Given the description of an element on the screen output the (x, y) to click on. 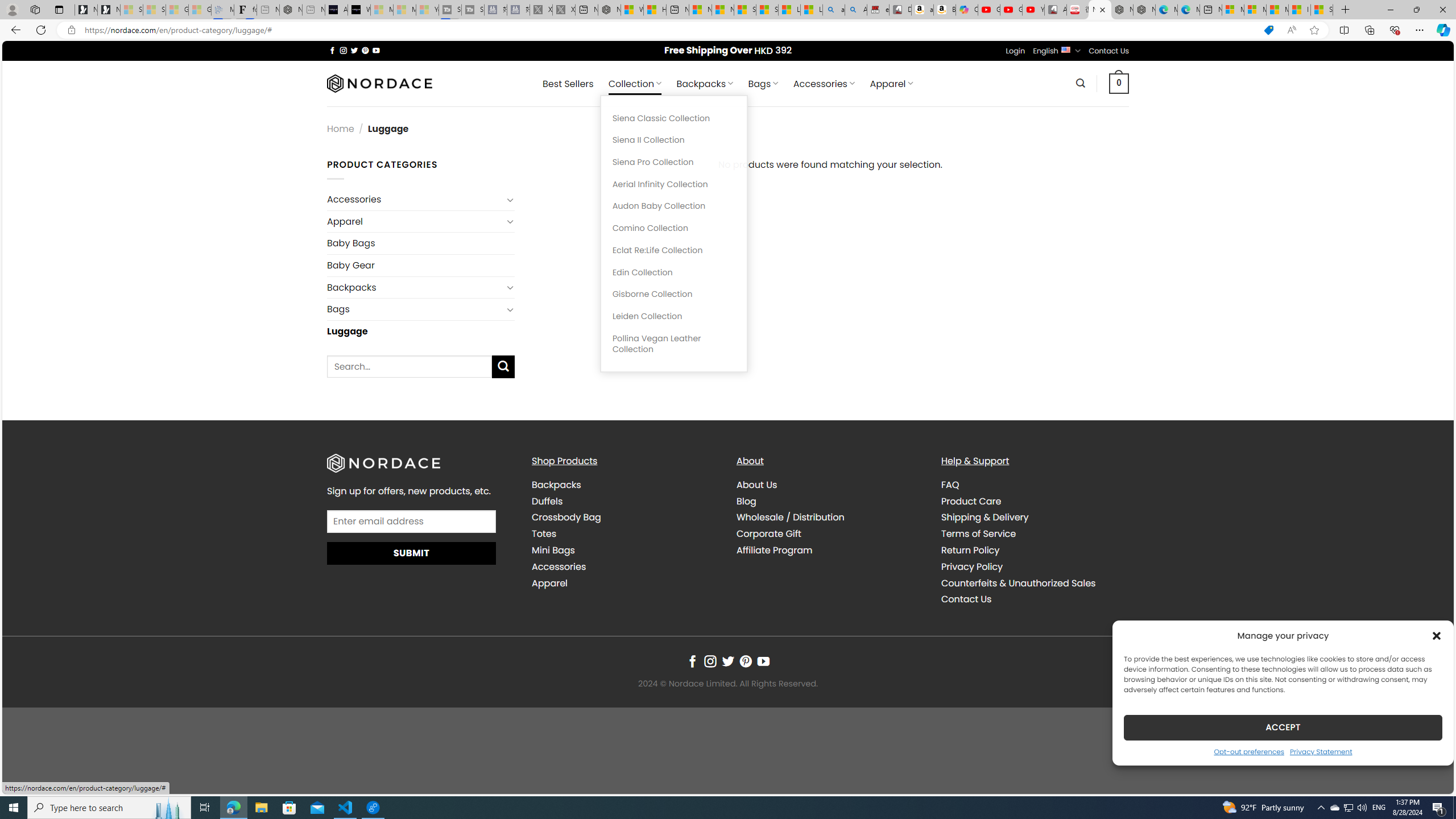
Backpacks (555, 484)
Workspaces (34, 9)
YouTube Kids - An App Created for Kids to Explore Content (1033, 9)
Submit (411, 553)
All Cubot phones (1055, 9)
Accessories (625, 566)
Pollina Vegan Leather Collection (672, 343)
New tab - Sleeping (313, 9)
AI Voice Changer for PC and Mac - Voice.ai (336, 9)
App bar (728, 29)
Follow on YouTube (763, 661)
Baby Bags (421, 242)
 Best Sellers (568, 83)
Browser essentials (1394, 29)
Add this page to favorites (Ctrl+D) (1314, 29)
